Given the description of an element on the screen output the (x, y) to click on. 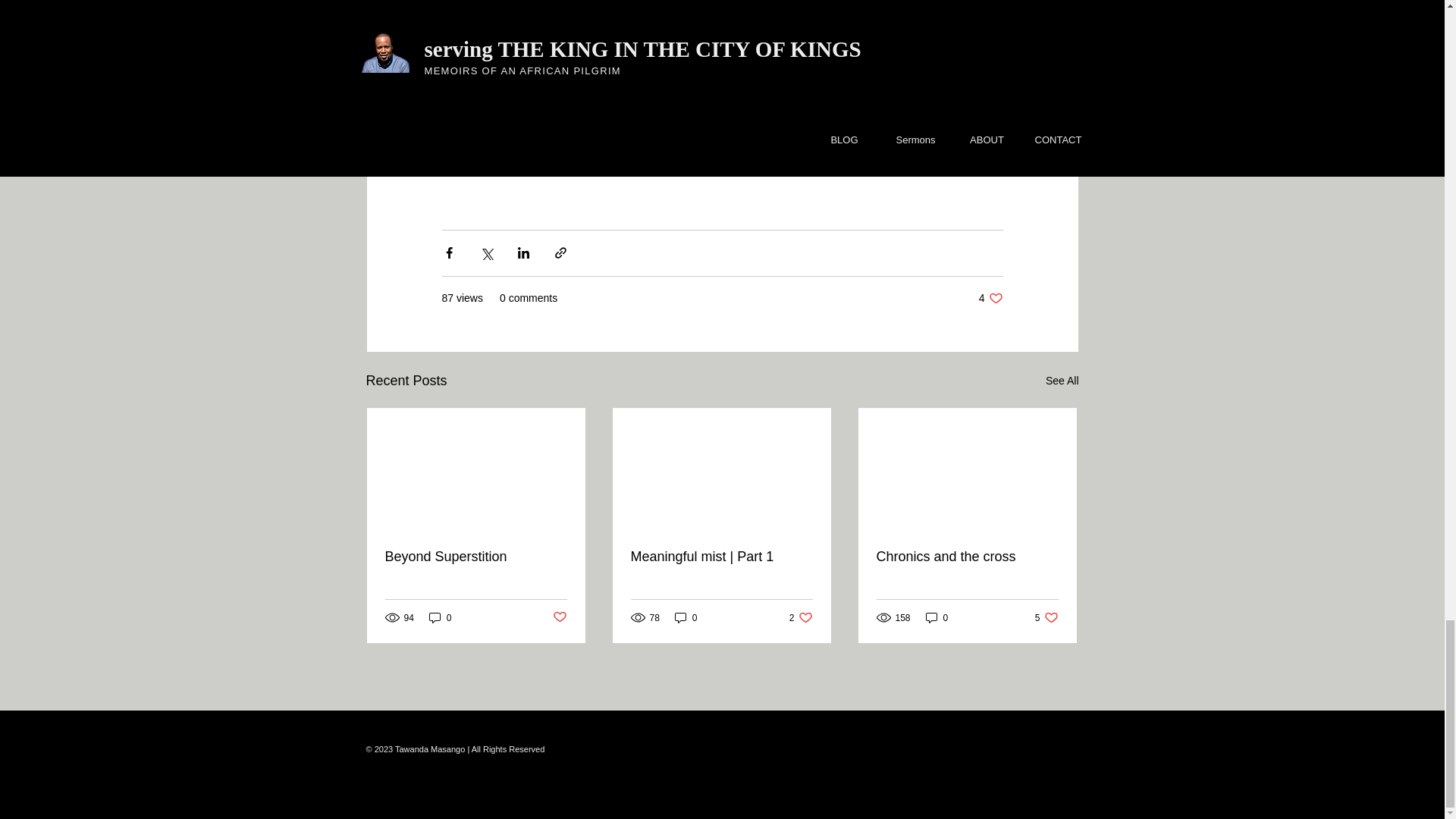
Beyond Superstition (1046, 617)
See All (476, 556)
0 (1061, 381)
Post not marked as liked (937, 617)
Chronics and the cross (558, 617)
0 (990, 298)
0 (967, 556)
